Given the description of an element on the screen output the (x, y) to click on. 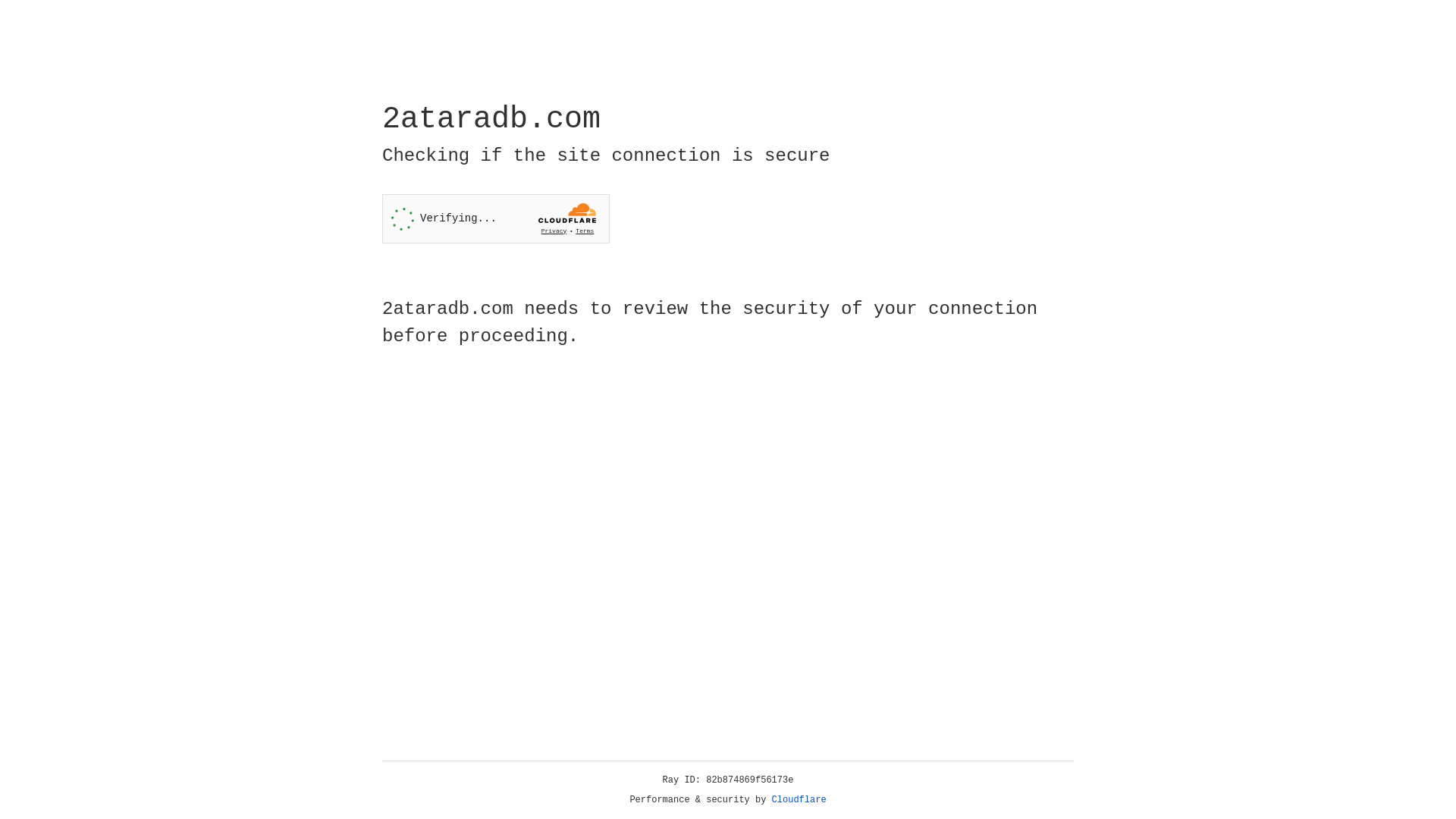
Widget containing a Cloudflare security challenge Element type: hover (495, 218)
Cloudflare Element type: text (798, 799)
